Given the description of an element on the screen output the (x, y) to click on. 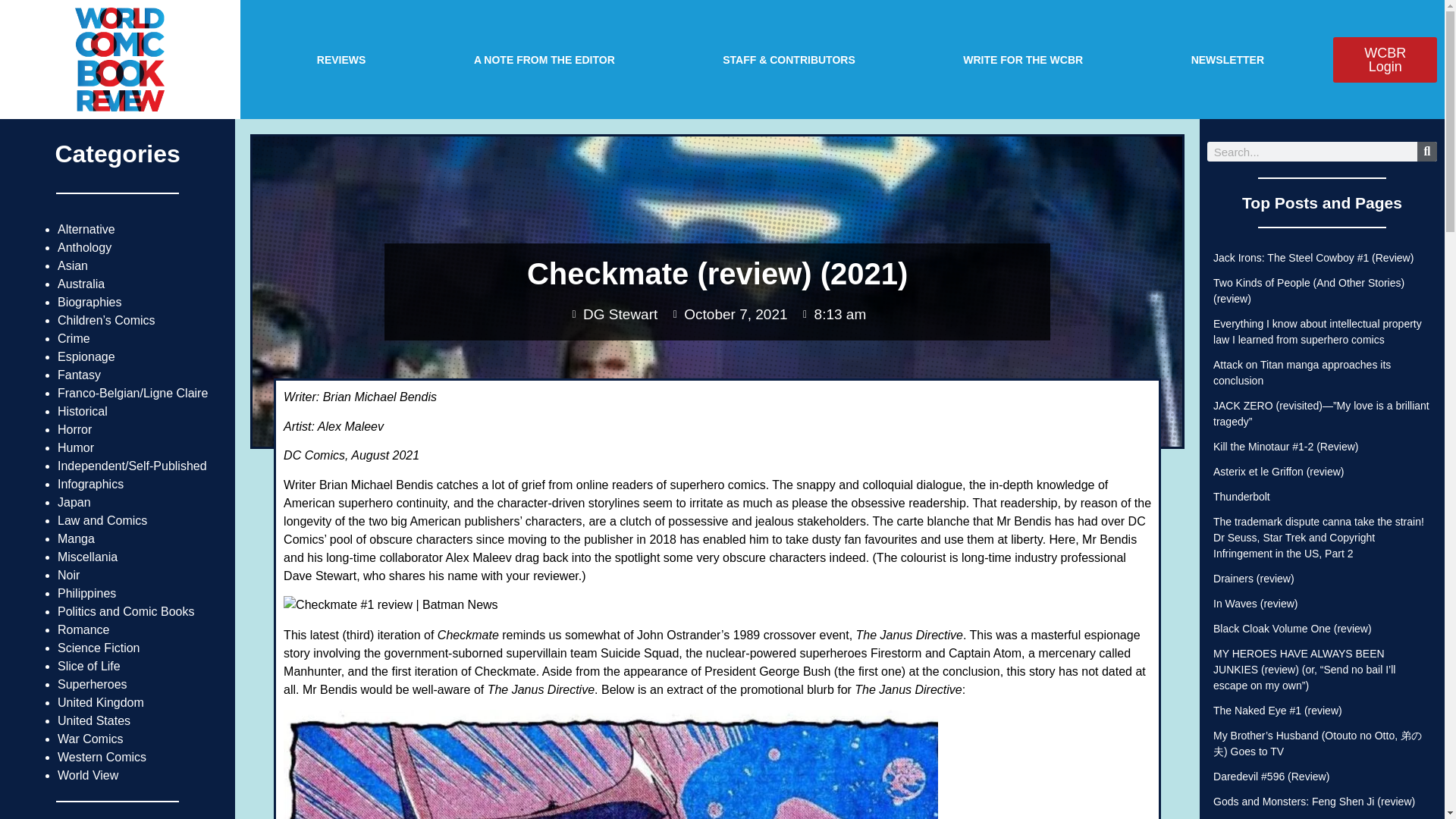
Historical (82, 410)
Australia (81, 283)
Biographies (90, 301)
Espionage (86, 356)
Asian (72, 265)
WRITE FOR THE WCBR (1022, 59)
WCBR Login (1385, 59)
A NOTE FROM THE EDITOR (544, 59)
Fantasy (79, 374)
NEWSLETTER (1227, 59)
